Given the description of an element on the screen output the (x, y) to click on. 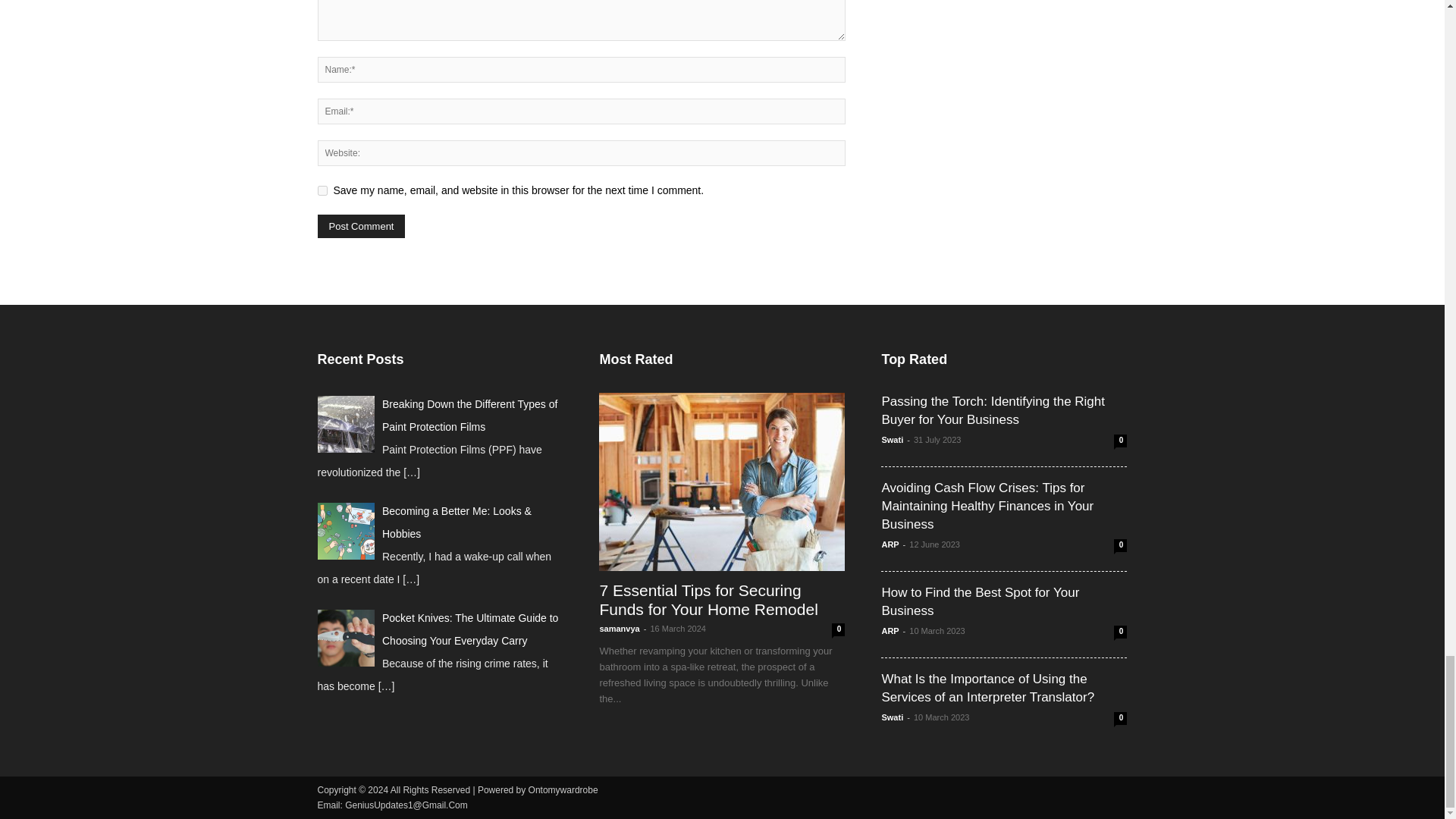
yes (321, 190)
Post Comment (360, 226)
